Given the description of an element on the screen output the (x, y) to click on. 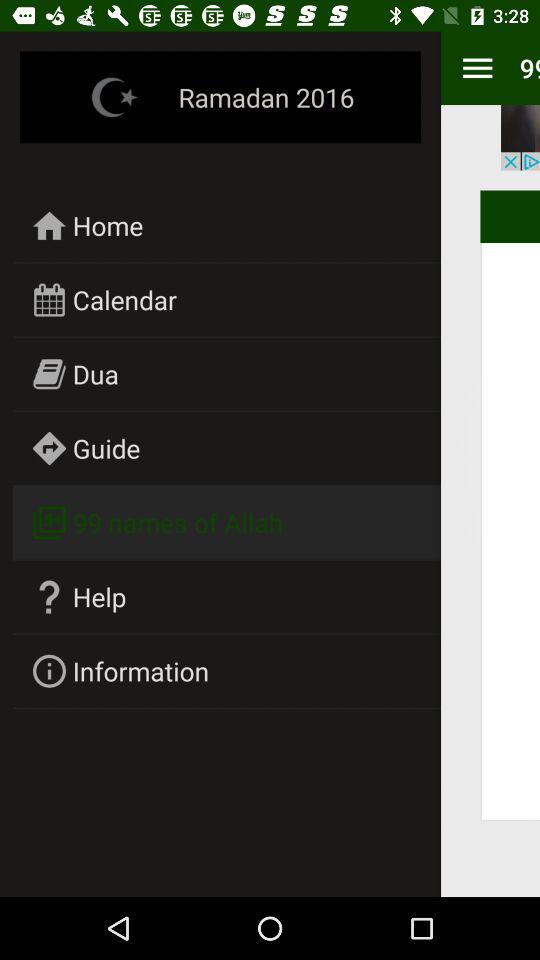
click icon below the dua item (106, 448)
